Given the description of an element on the screen output the (x, y) to click on. 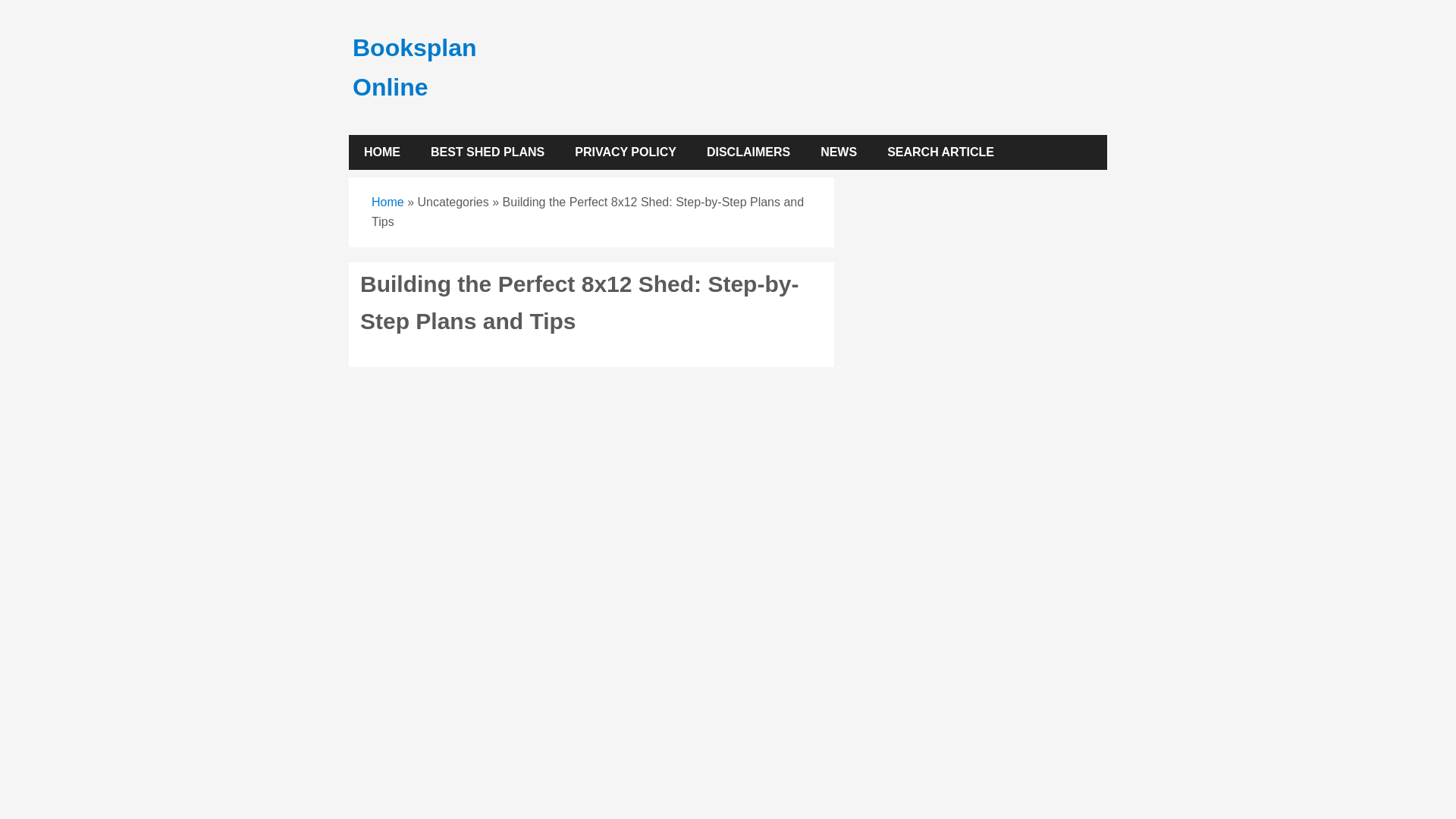
DISCLAIMERS (748, 152)
HOME (381, 152)
Home (387, 201)
BEST SHED PLANS (486, 152)
NEWS (838, 152)
SEARCH ARTICLE (940, 152)
PRIVACY POLICY (625, 152)
Booksplan Online (414, 67)
